Given the description of an element on the screen output the (x, y) to click on. 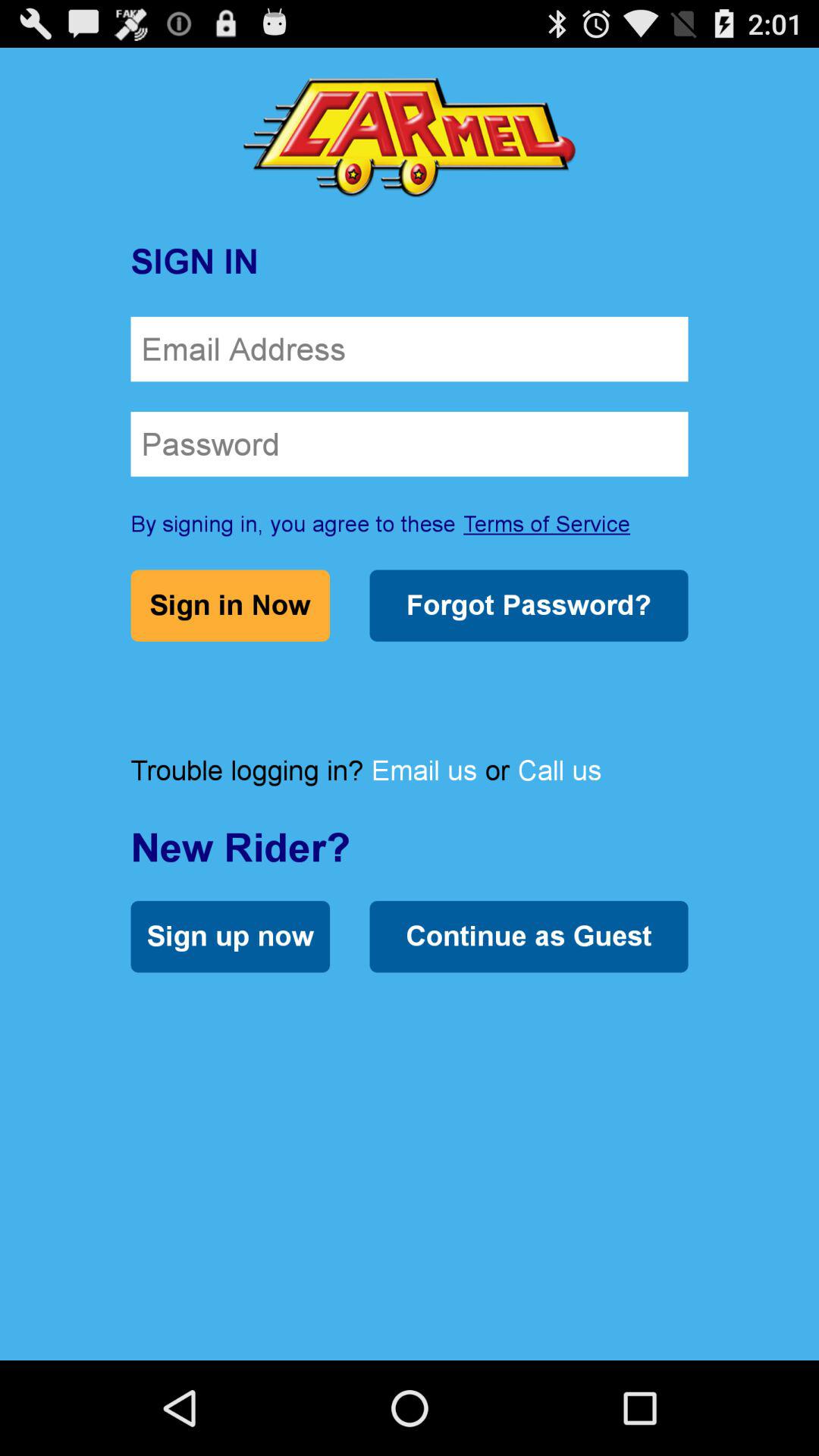
turn on call us  item (559, 770)
